Given the description of an element on the screen output the (x, y) to click on. 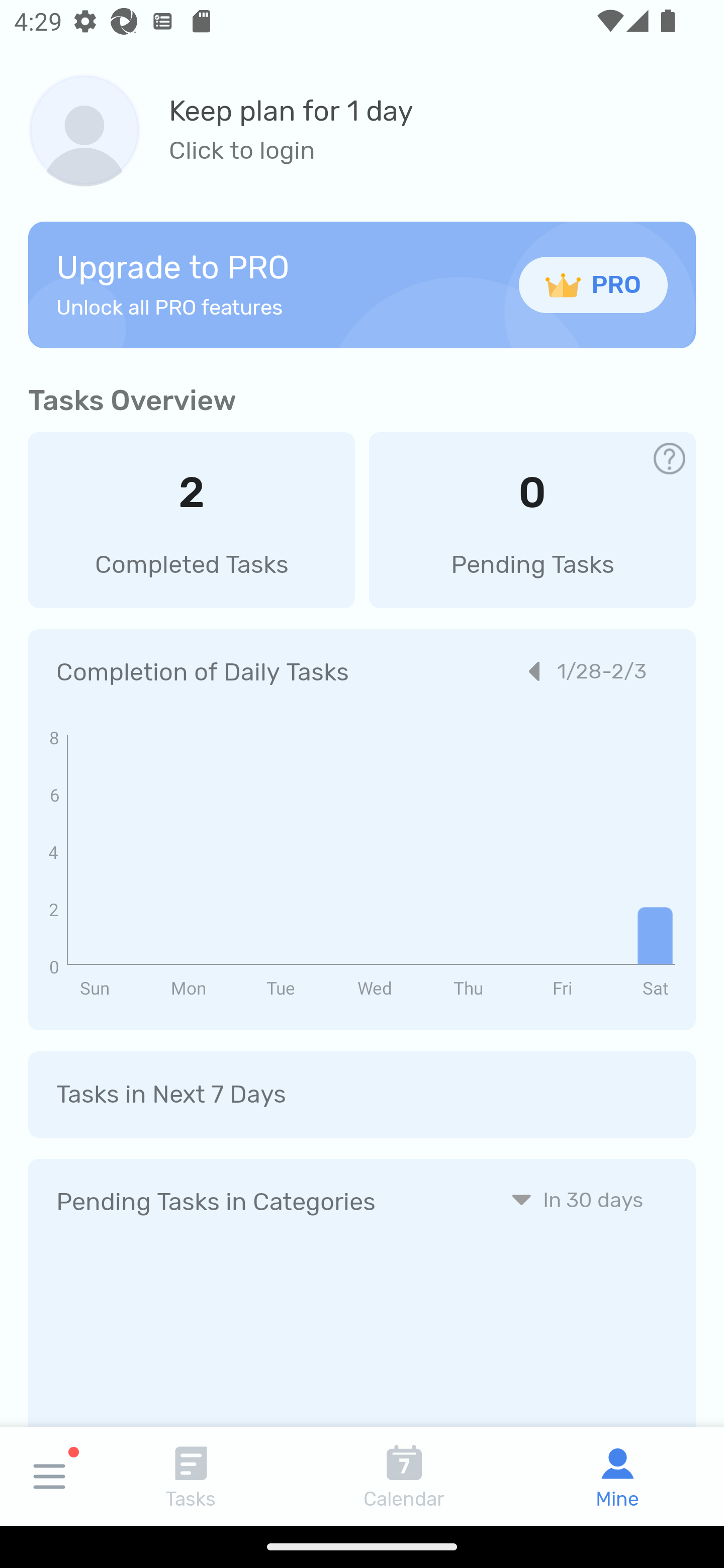
Click to login (291, 151)
Upgrade to PRO Unlock all PRO features PRO (361, 284)
In 30 days (577, 1199)
Tasks (190, 1475)
Calendar (404, 1475)
Mine (617, 1475)
